Given the description of an element on the screen output the (x, y) to click on. 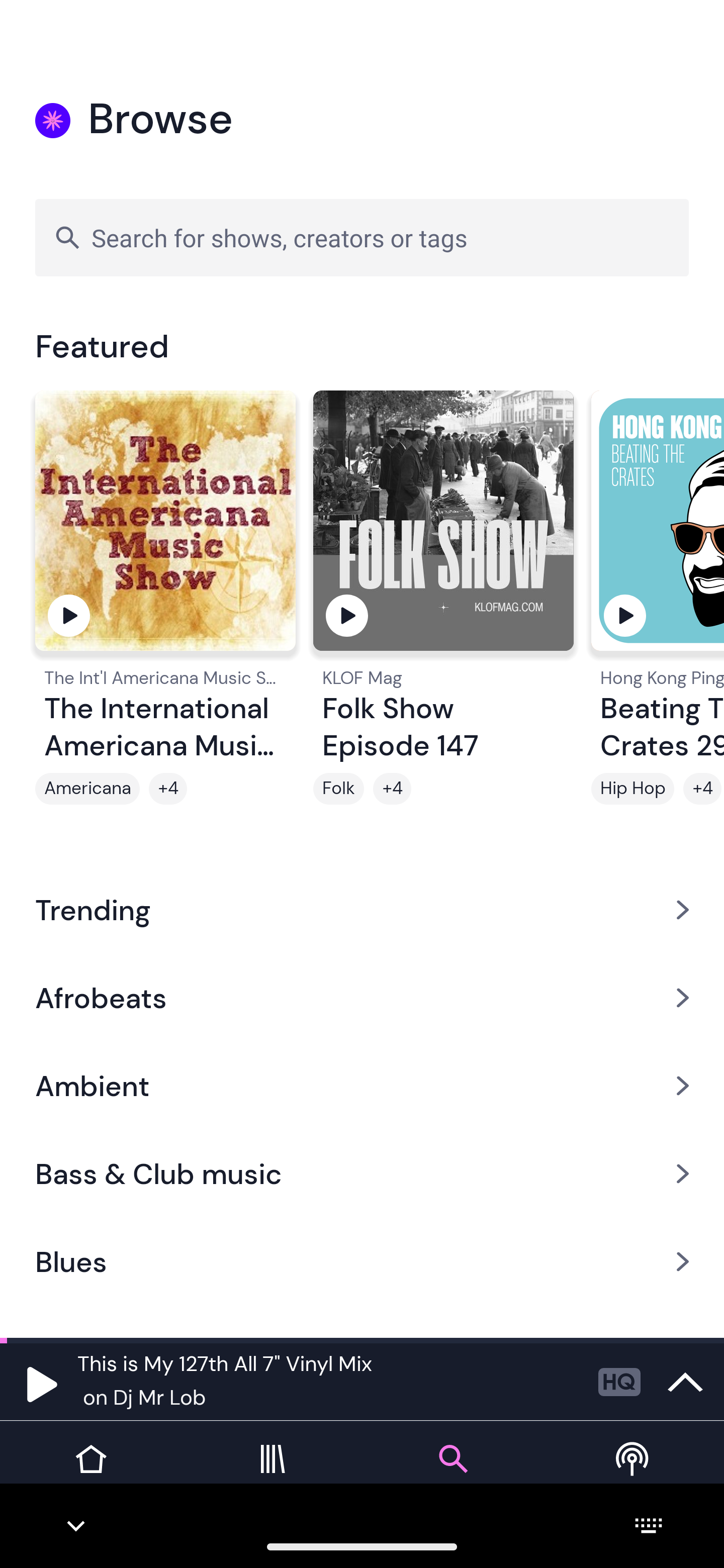
Search for shows, creators or tags (361, 237)
Americana (87, 788)
Folk (338, 788)
Hip Hop (632, 788)
Trending (361, 909)
Afrobeats (361, 997)
Ambient (361, 1085)
Bass & Club music (361, 1174)
Blues (361, 1262)
Home tab (90, 1473)
Library tab (271, 1473)
Browse tab (452, 1473)
Live tab (633, 1473)
